Given the description of an element on the screen output the (x, y) to click on. 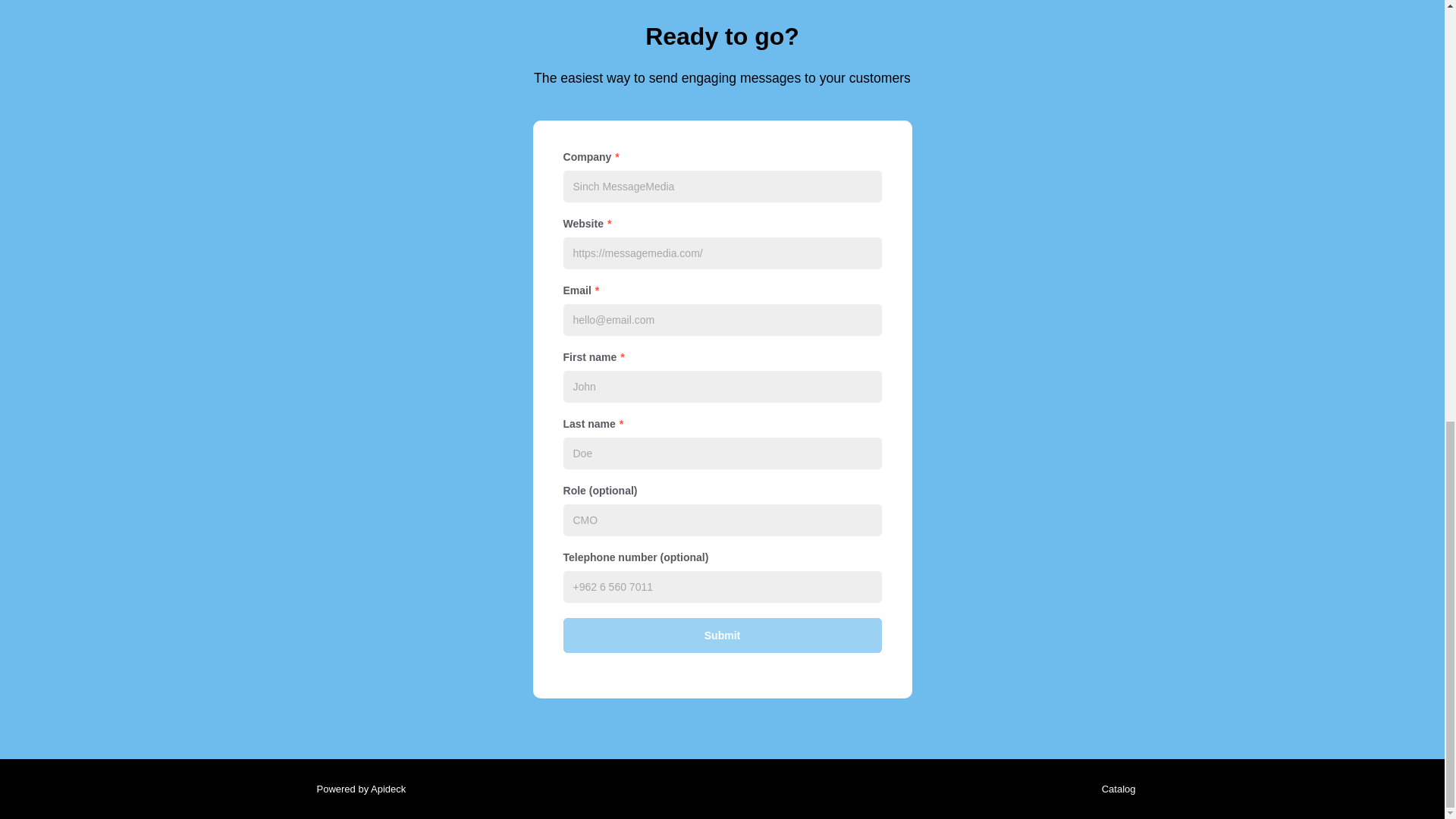
Catalog (1115, 789)
Submit (721, 635)
Powered by Apideck (356, 789)
